Given the description of an element on the screen output the (x, y) to click on. 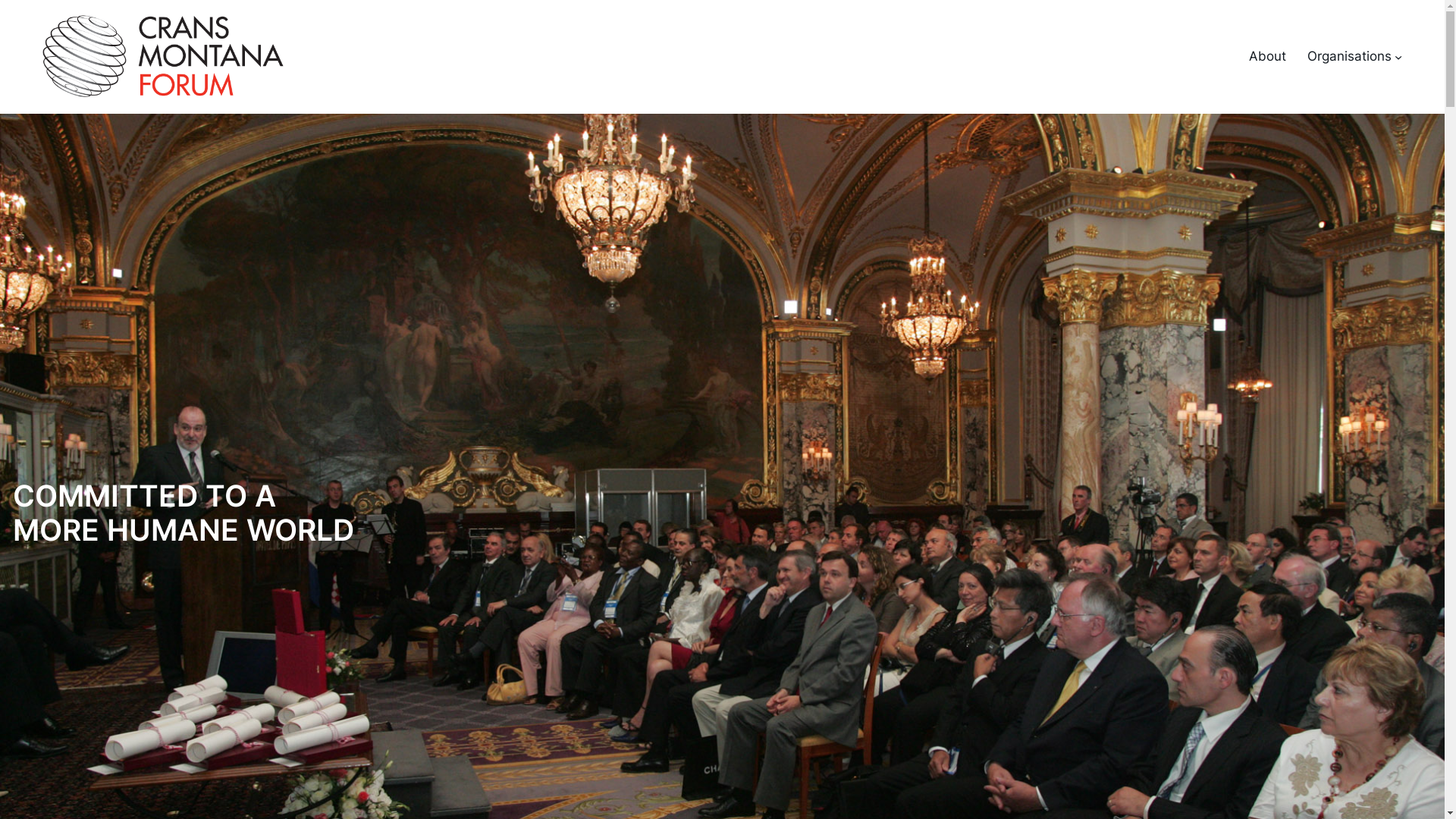
About Element type: text (1267, 56)
Organisations Element type: text (1349, 56)
